Given the description of an element on the screen output the (x, y) to click on. 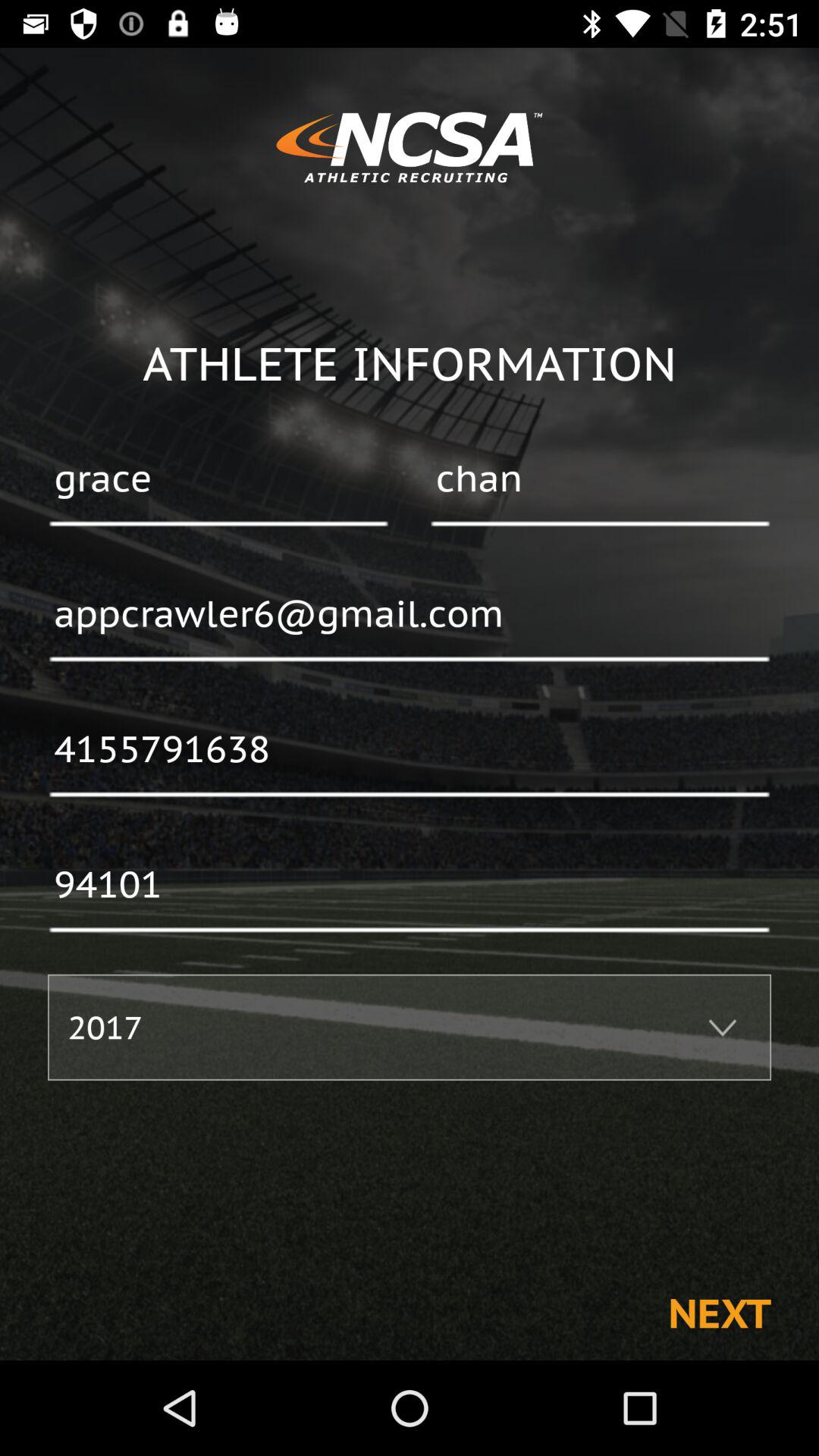
select the chan item (600, 479)
